Given the description of an element on the screen output the (x, y) to click on. 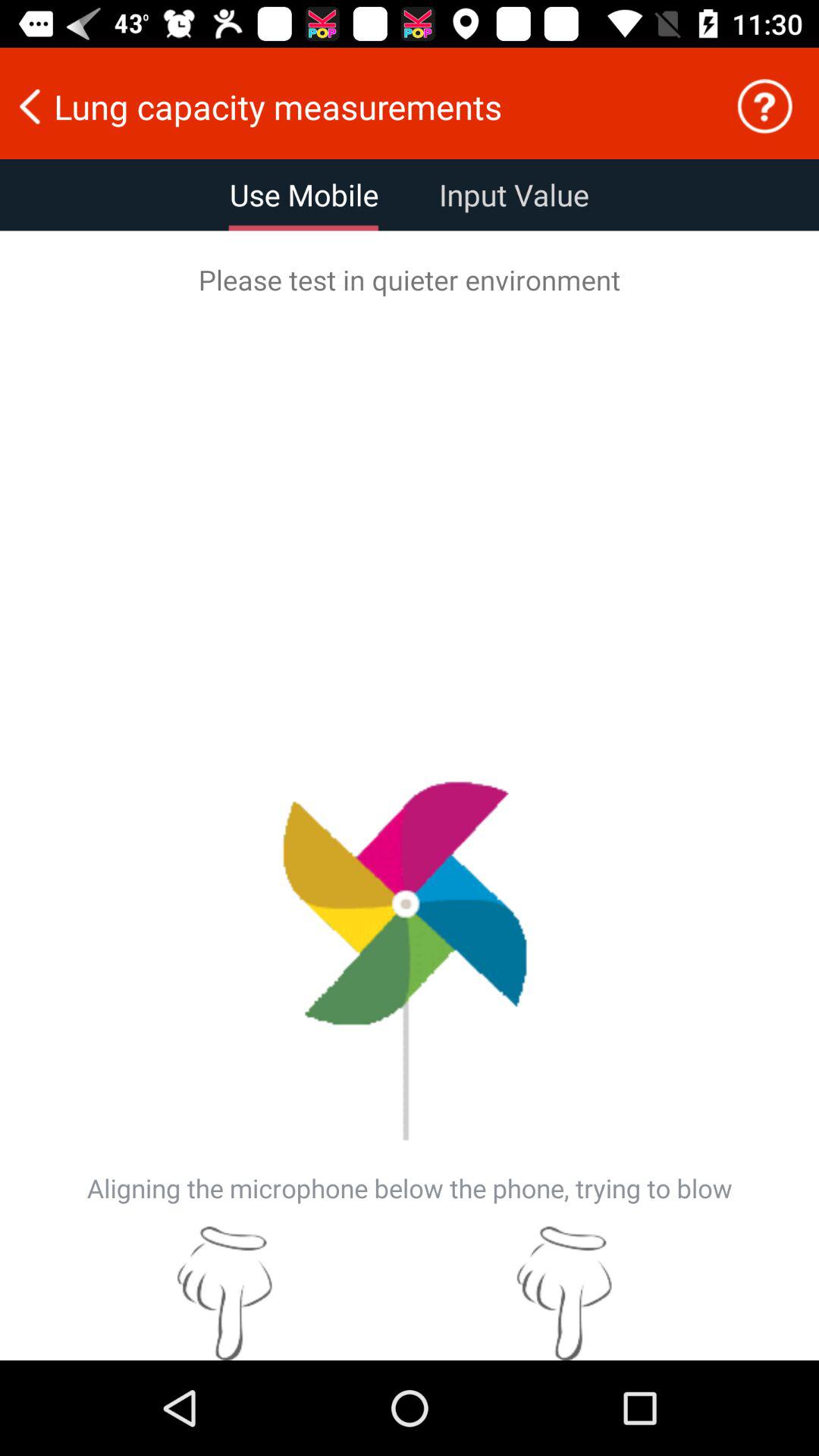
select icon above the use mobile (357, 106)
